Given the description of an element on the screen output the (x, y) to click on. 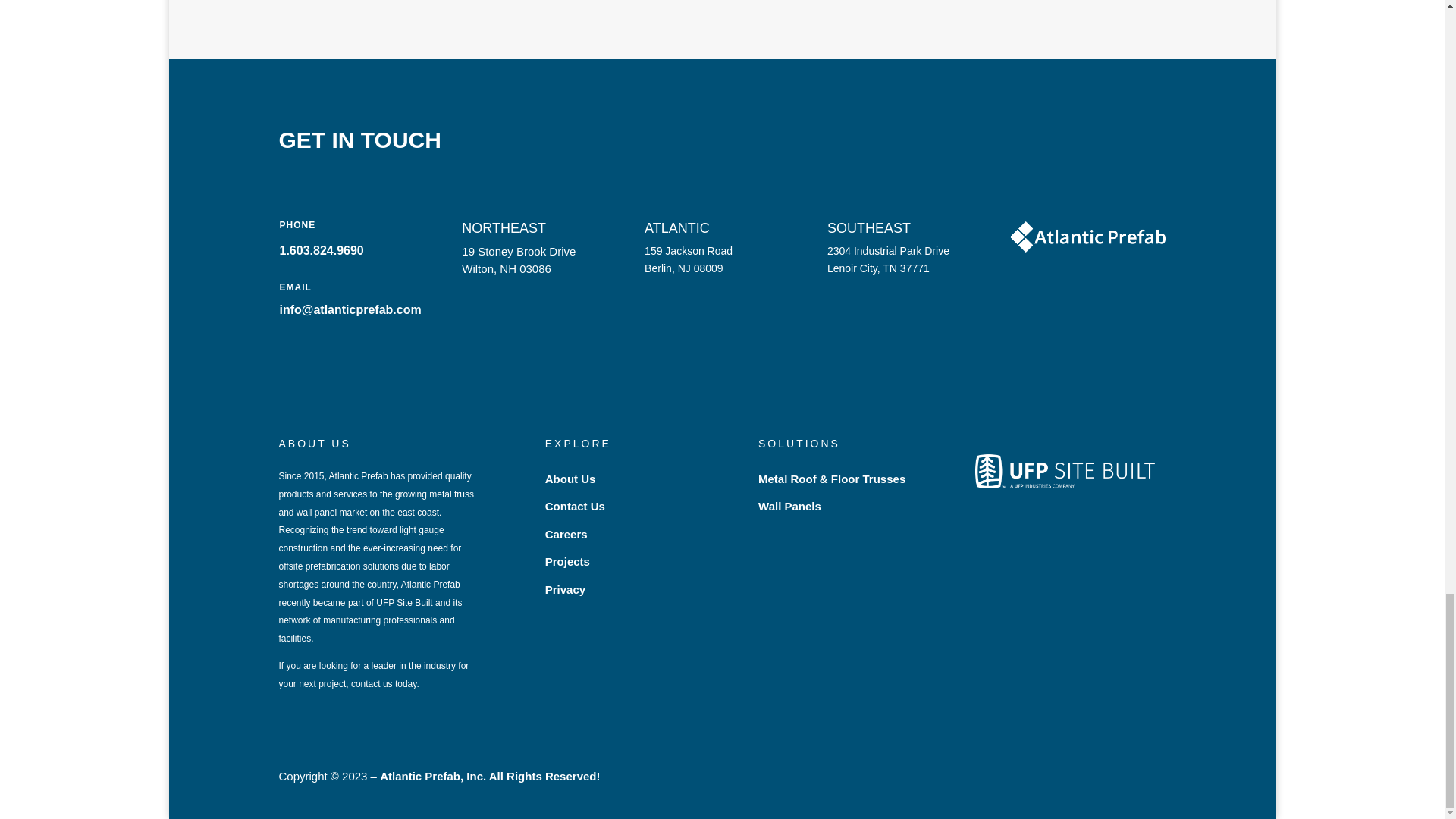
Careers (566, 533)
Atlantic Prefab Logo (1088, 236)
Privacy (564, 589)
Contact Us (574, 505)
About Us (569, 478)
Projects (566, 561)
UFP Site Built (1064, 471)
Wall Panels (789, 505)
